Given the description of an element on the screen output the (x, y) to click on. 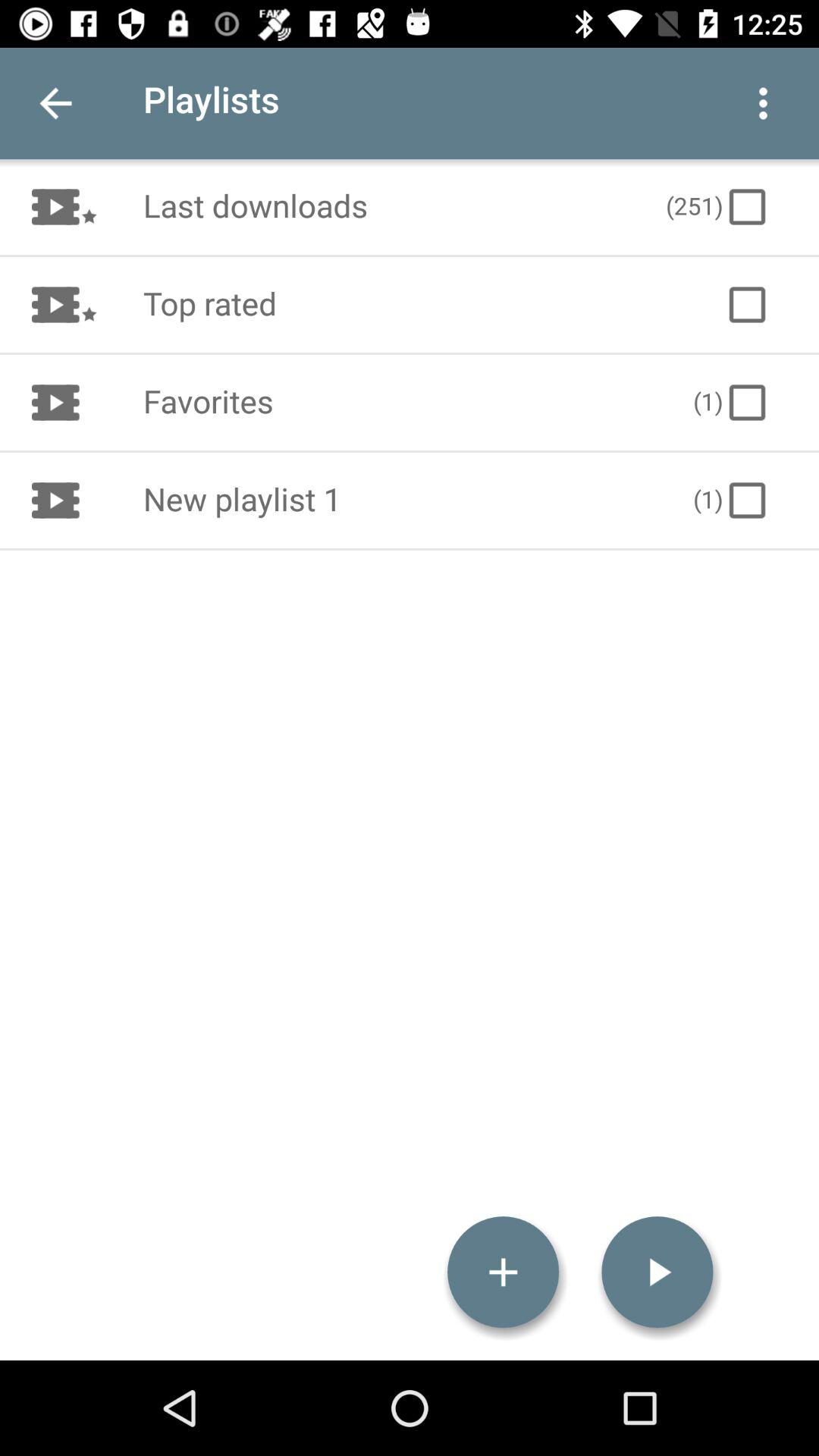
select the icon below (251) item (747, 304)
